Given the description of an element on the screen output the (x, y) to click on. 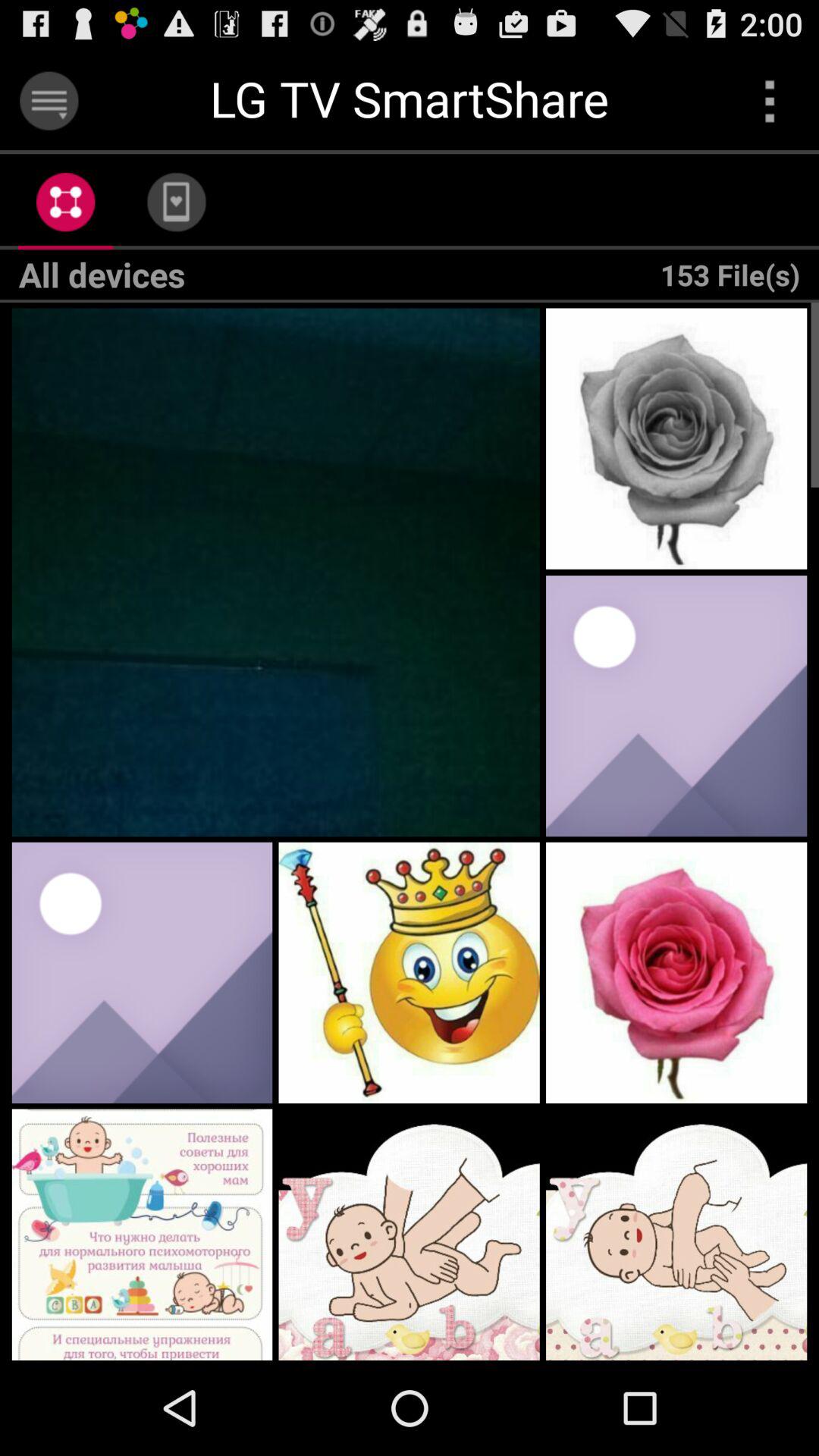
press app above all devices (176, 201)
